Given the description of an element on the screen output the (x, y) to click on. 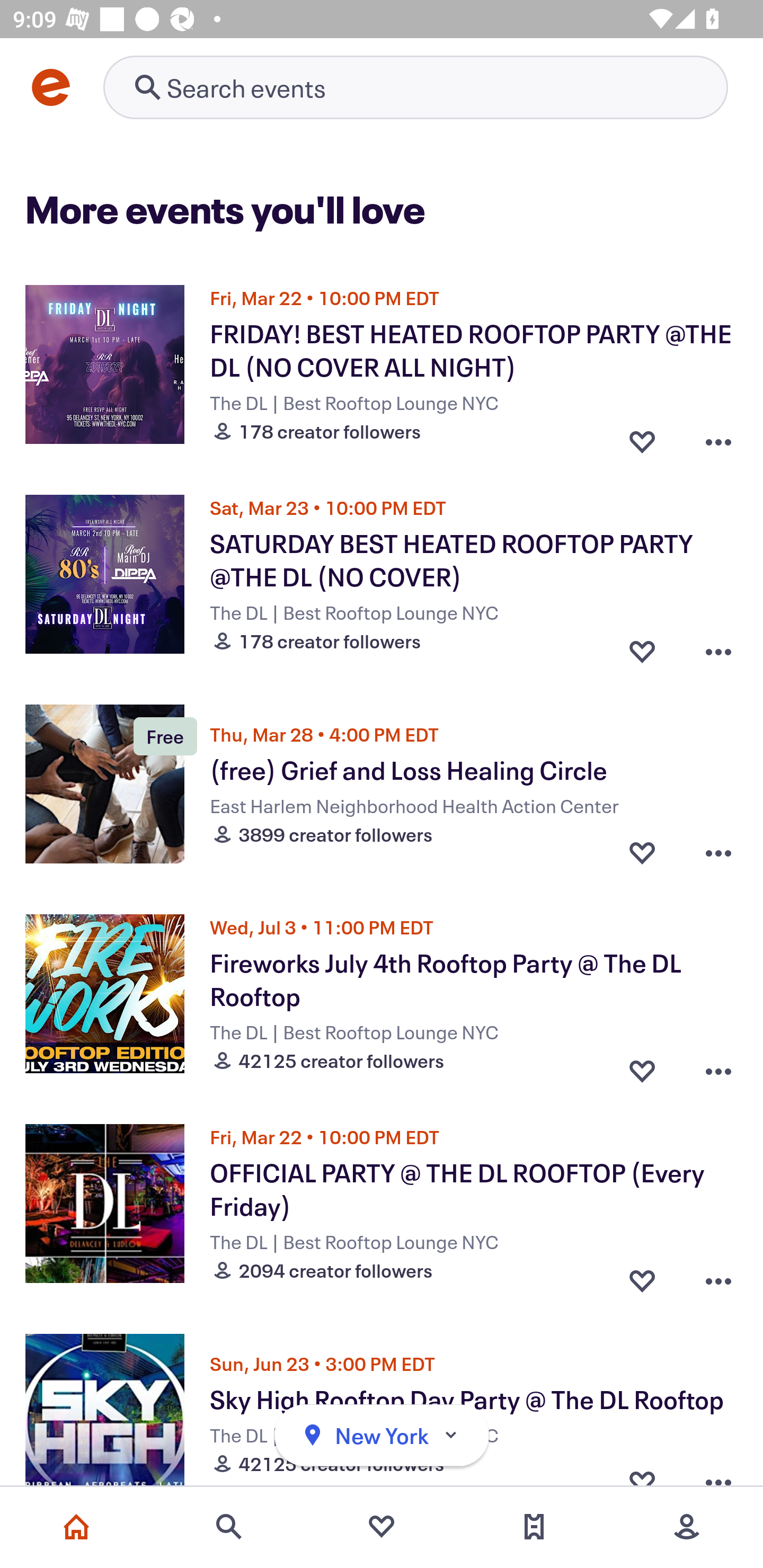
Retry's image Search events (415, 86)
Favorite button (642, 436)
Overflow menu button (718, 436)
Favorite button (642, 646)
Overflow menu button (718, 646)
Favorite button (642, 852)
Overflow menu button (718, 852)
Favorite button (642, 1066)
Overflow menu button (718, 1066)
Favorite button (642, 1275)
Overflow menu button (718, 1275)
New York (381, 1435)
Home (76, 1526)
Search events (228, 1526)
Favorites (381, 1526)
Tickets (533, 1526)
More (686, 1526)
